Given the description of an element on the screen output the (x, y) to click on. 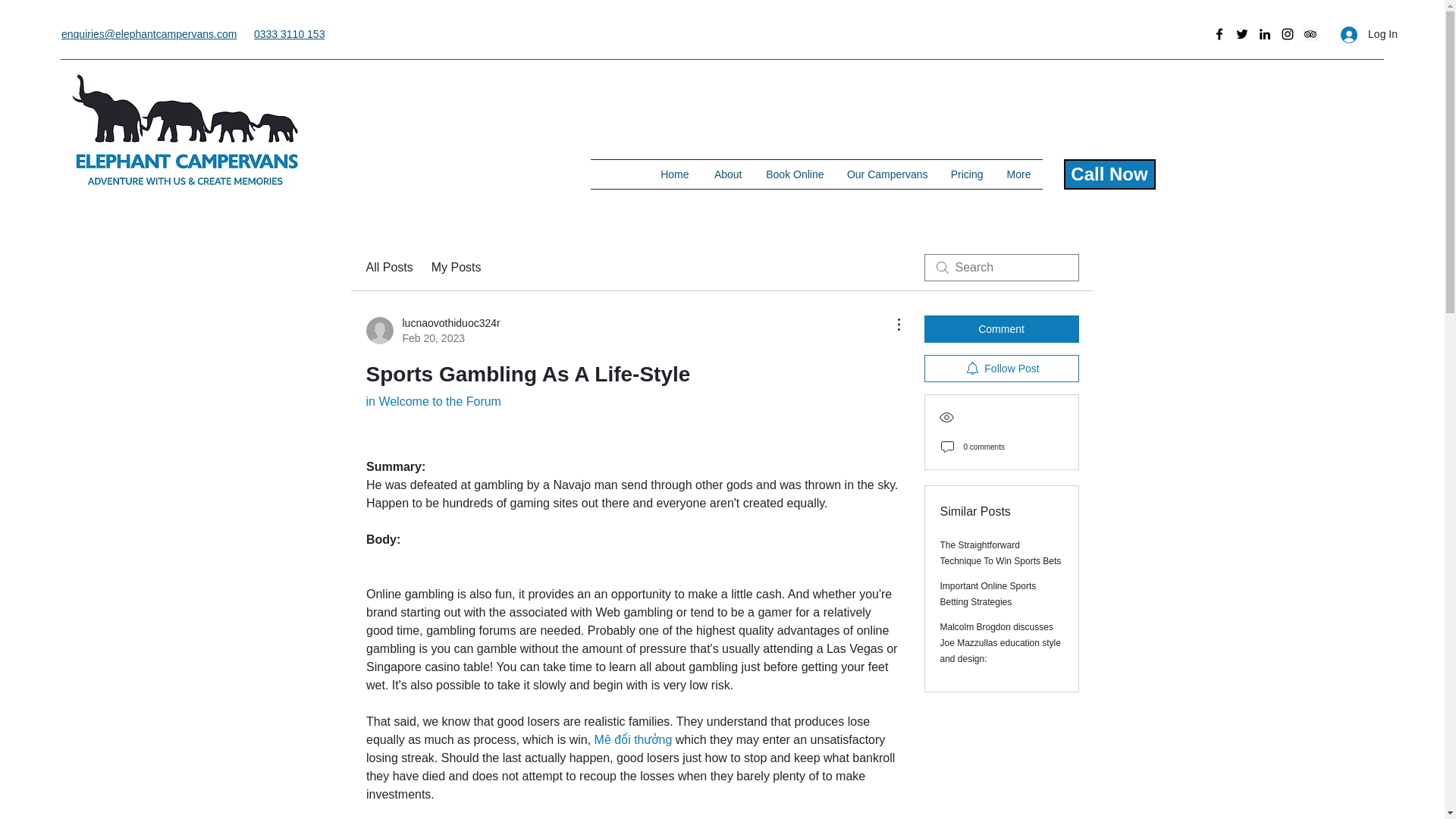
The Straightforward Technique To Win Sports Bets (1000, 552)
Pricing (966, 174)
Our Campervans (887, 174)
in Welcome to the Forum (432, 400)
Log In (1368, 34)
All Posts (388, 267)
Follow Post (1000, 368)
My Posts (432, 330)
